Given the description of an element on the screen output the (x, y) to click on. 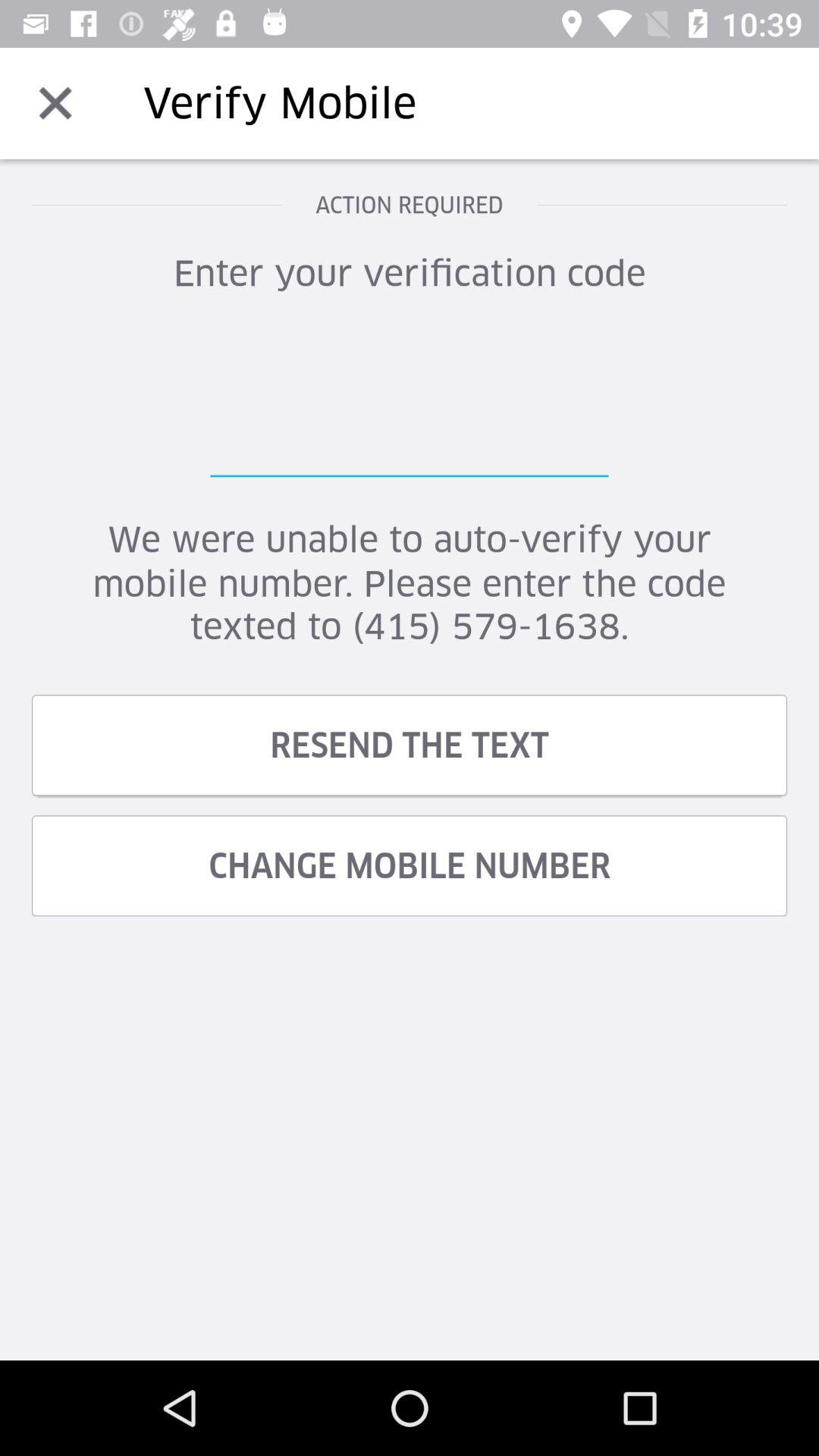
open the icon below we were unable (409, 745)
